Given the description of an element on the screen output the (x, y) to click on. 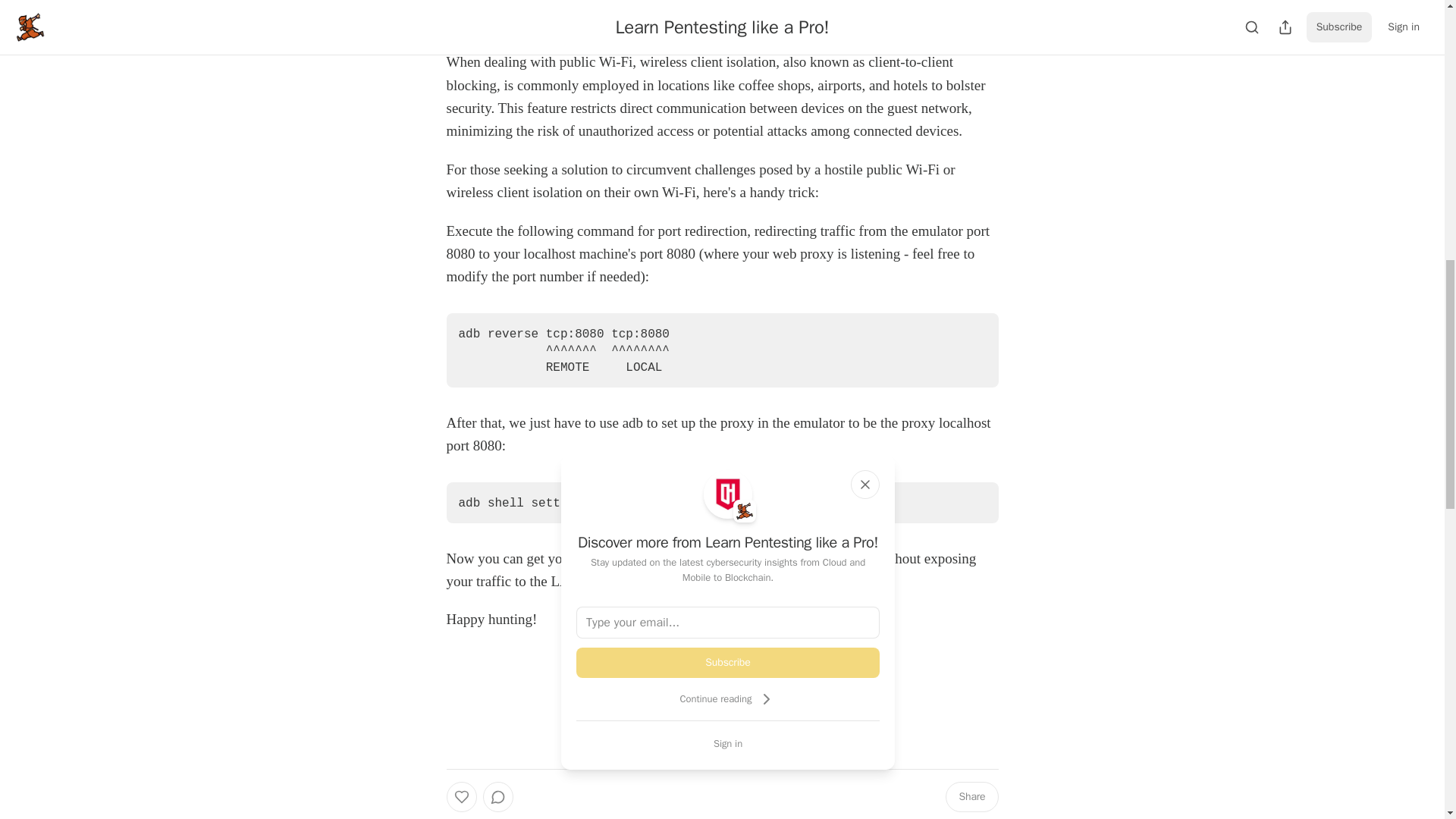
Subscribe (827, 723)
Sign in (727, 743)
Share (970, 797)
Subscribe (727, 662)
